Given the description of an element on the screen output the (x, y) to click on. 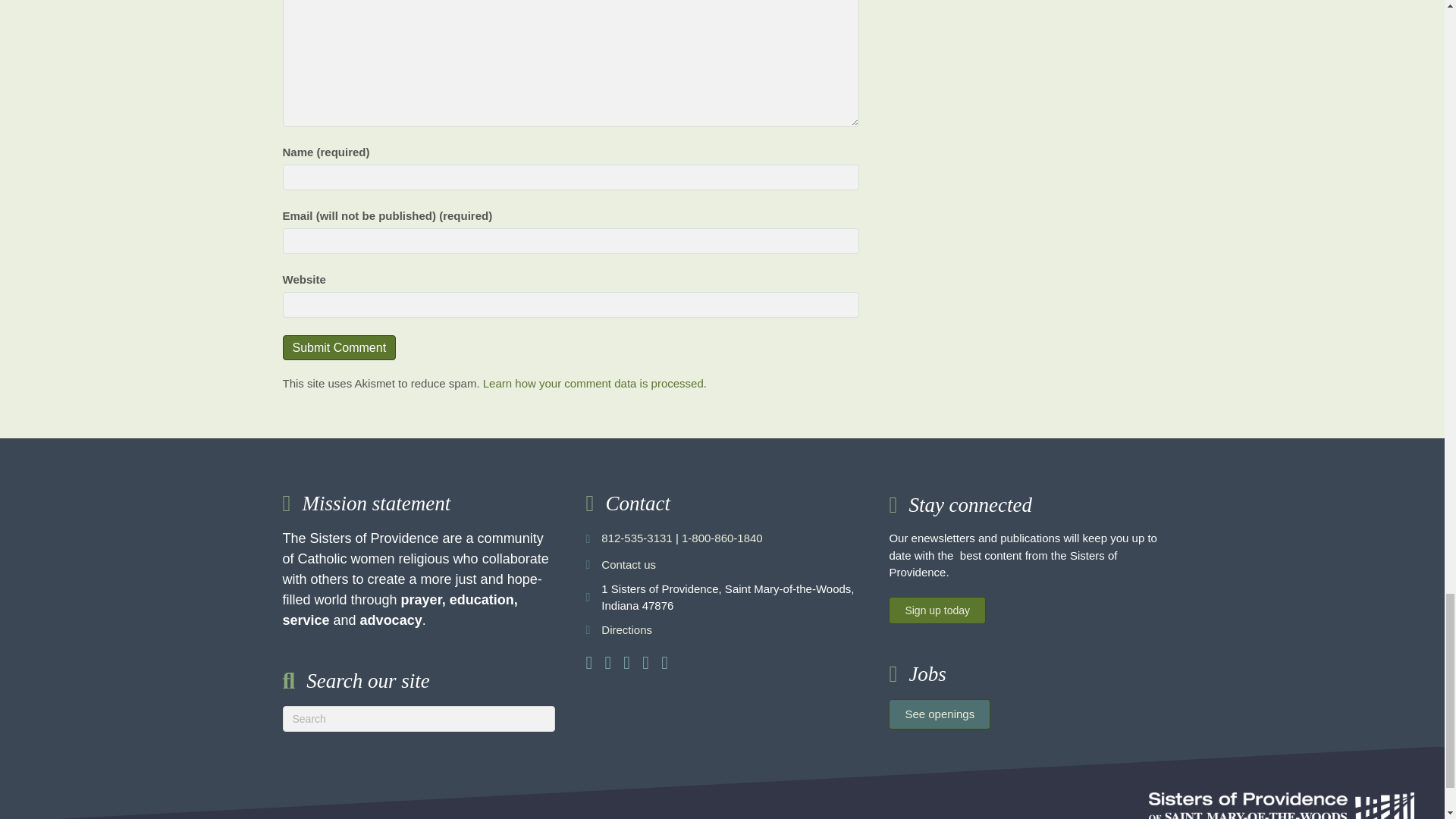
Submit Comment (339, 347)
